Given the description of an element on the screen output the (x, y) to click on. 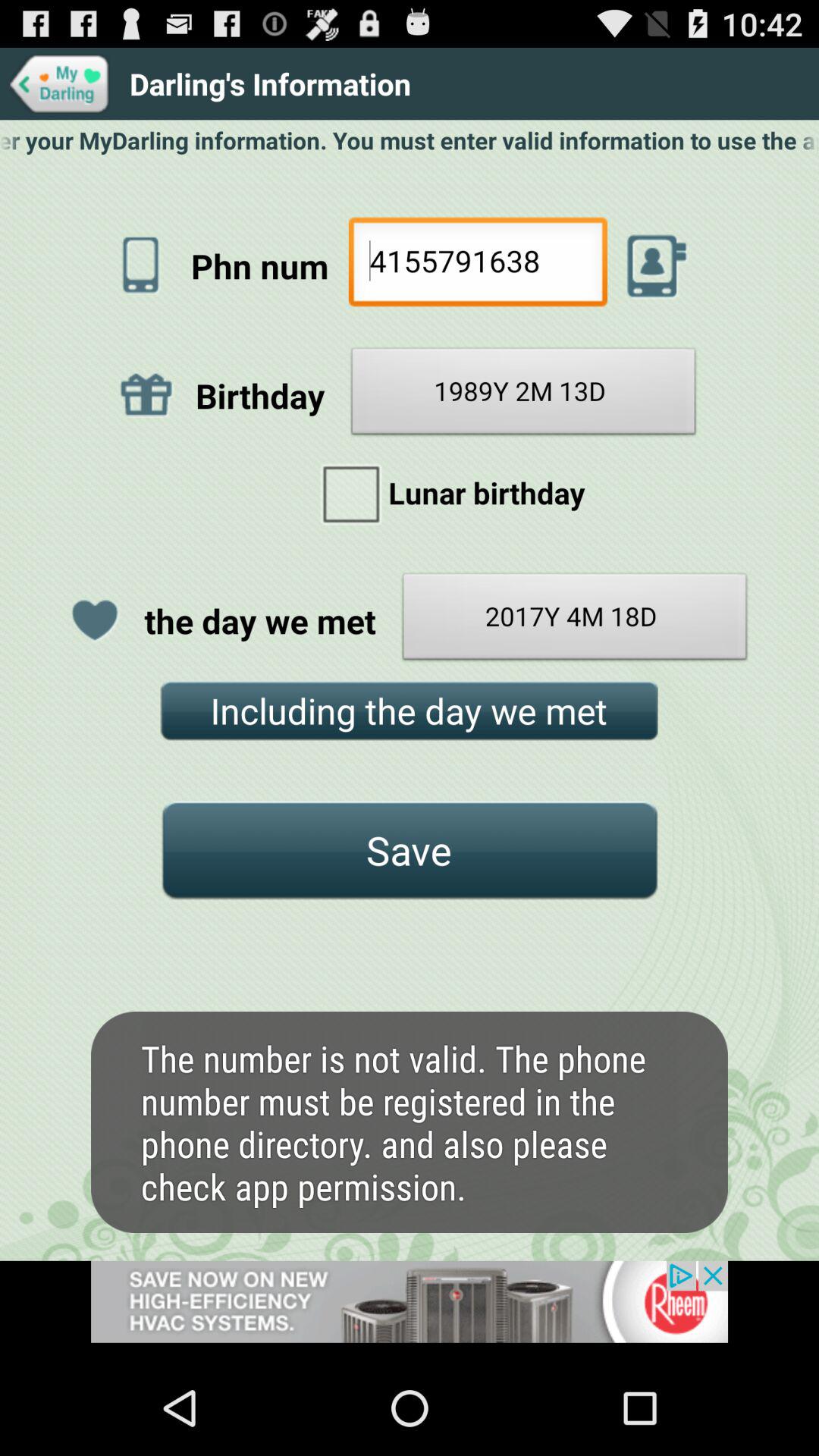
advertisement page (409, 1310)
